Given the description of an element on the screen output the (x, y) to click on. 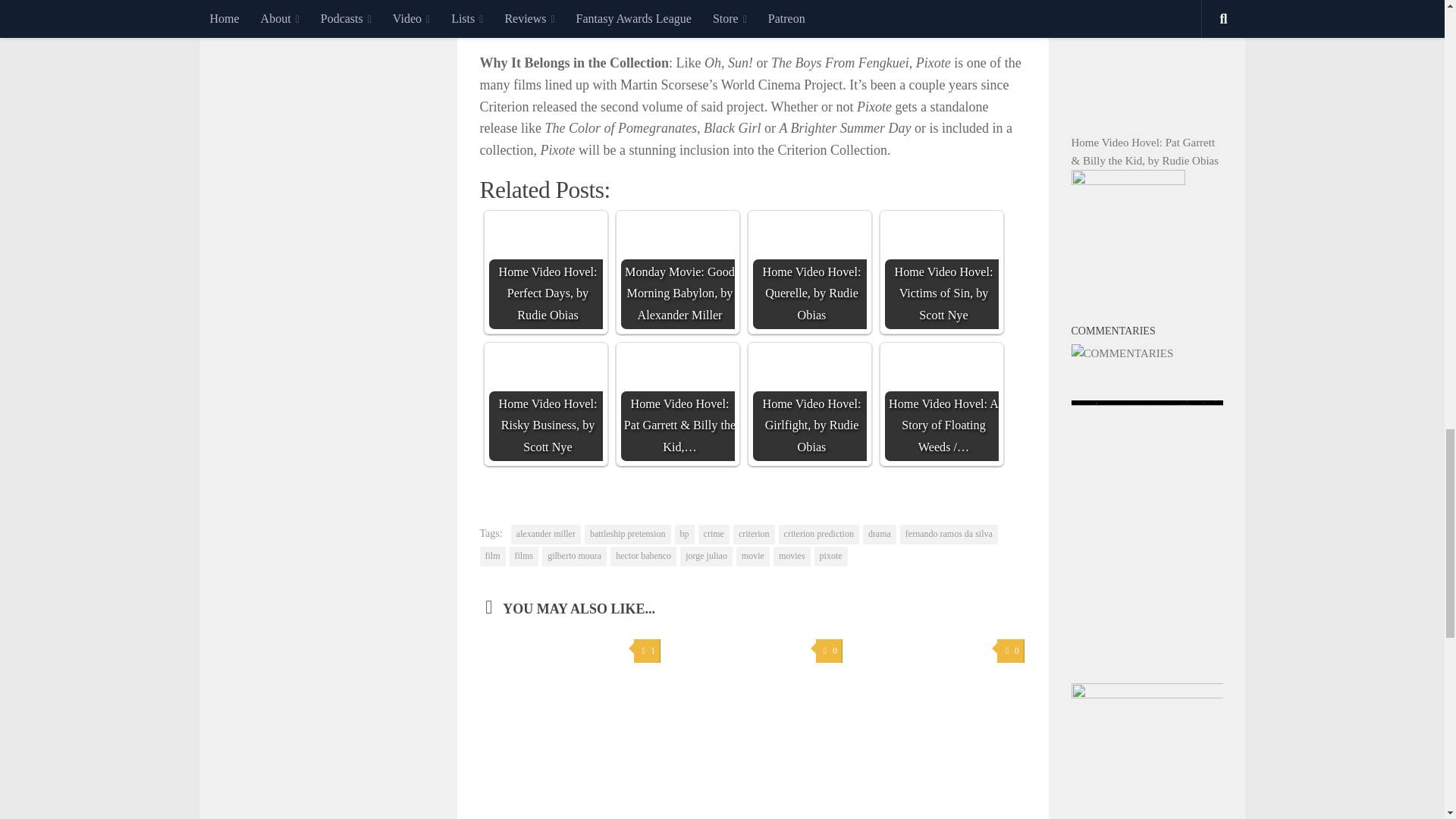
Home Video Hovel: Perfect Days, by Rudie Obias (544, 272)
Home Video Hovel: Querelle, by Rudie Obias (809, 272)
Home Video Hovel: Girlfight, by Rudie Obias (809, 404)
Home Video Hovel: Victims of Sin, by Scott Nye (940, 272)
Monday Movie: Good Morning Babylon, by Alexander Miller (676, 272)
Home Video Hovel: Risky Business, by Scott Nye (544, 404)
